Given the description of an element on the screen output the (x, y) to click on. 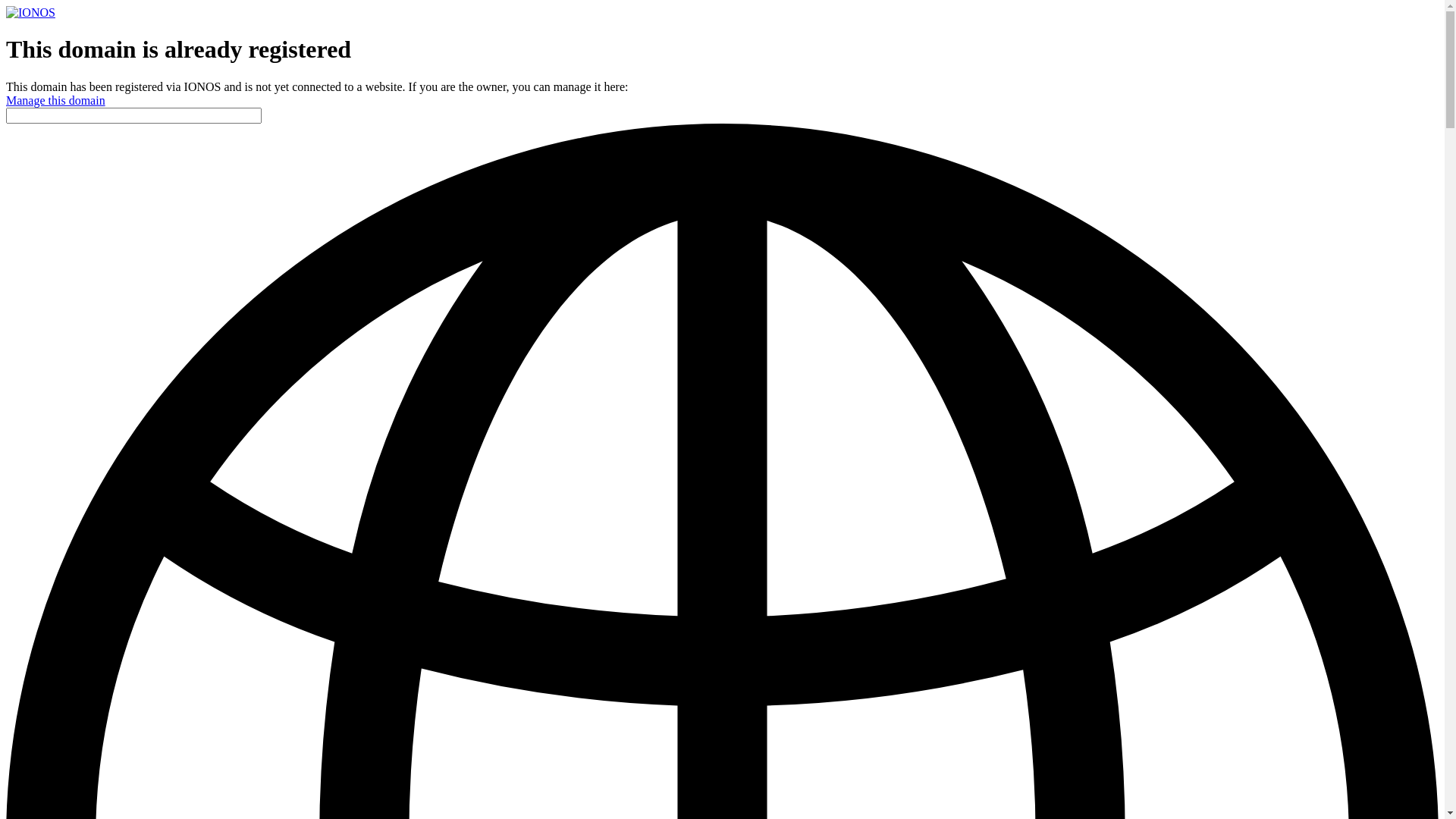
Manage this domain Element type: text (55, 100)
